Given the description of an element on the screen output the (x, y) to click on. 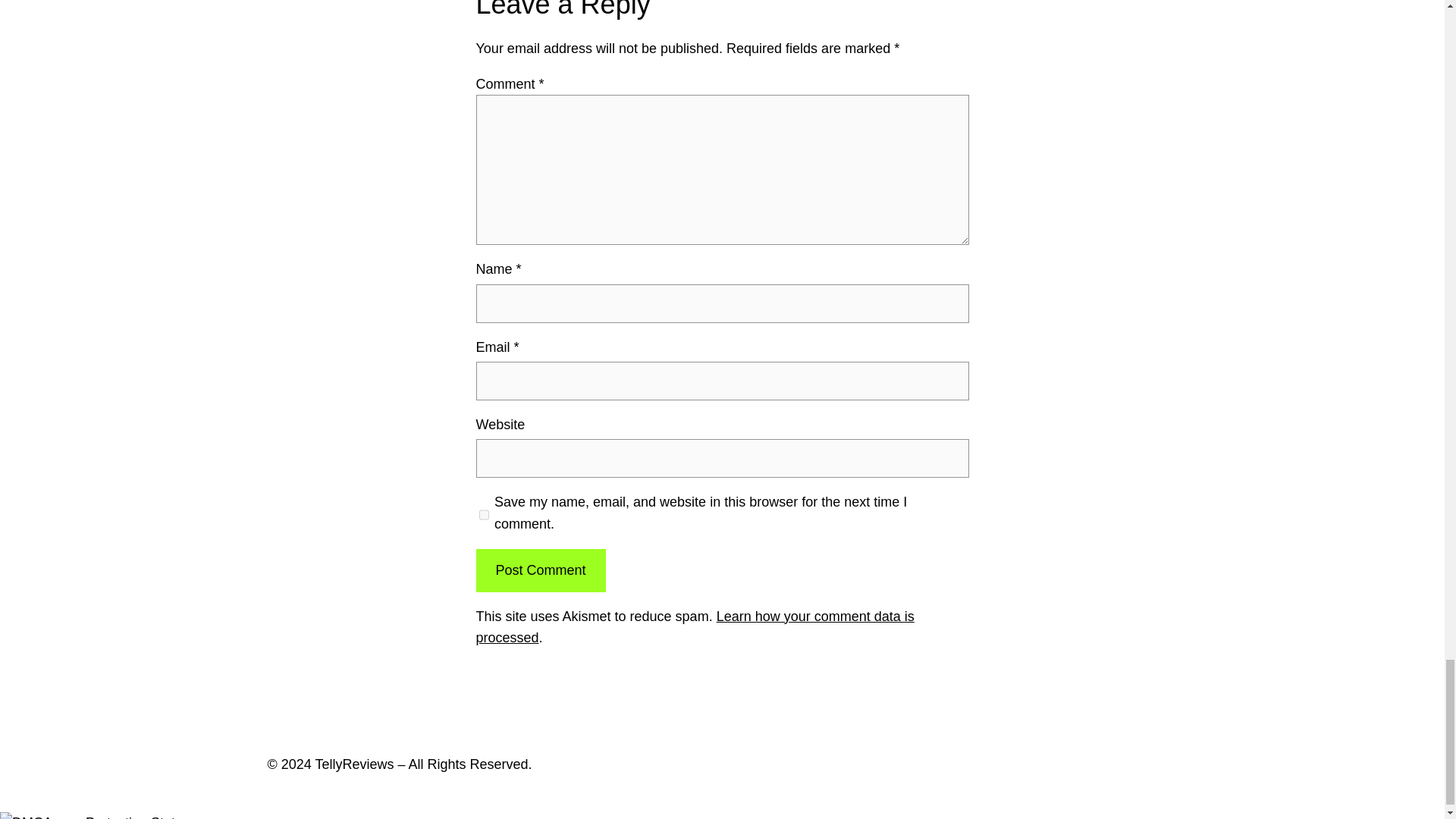
Learn how your comment data is processed (695, 627)
Post Comment (540, 570)
Post Comment (540, 570)
